Given the description of an element on the screen output the (x, y) to click on. 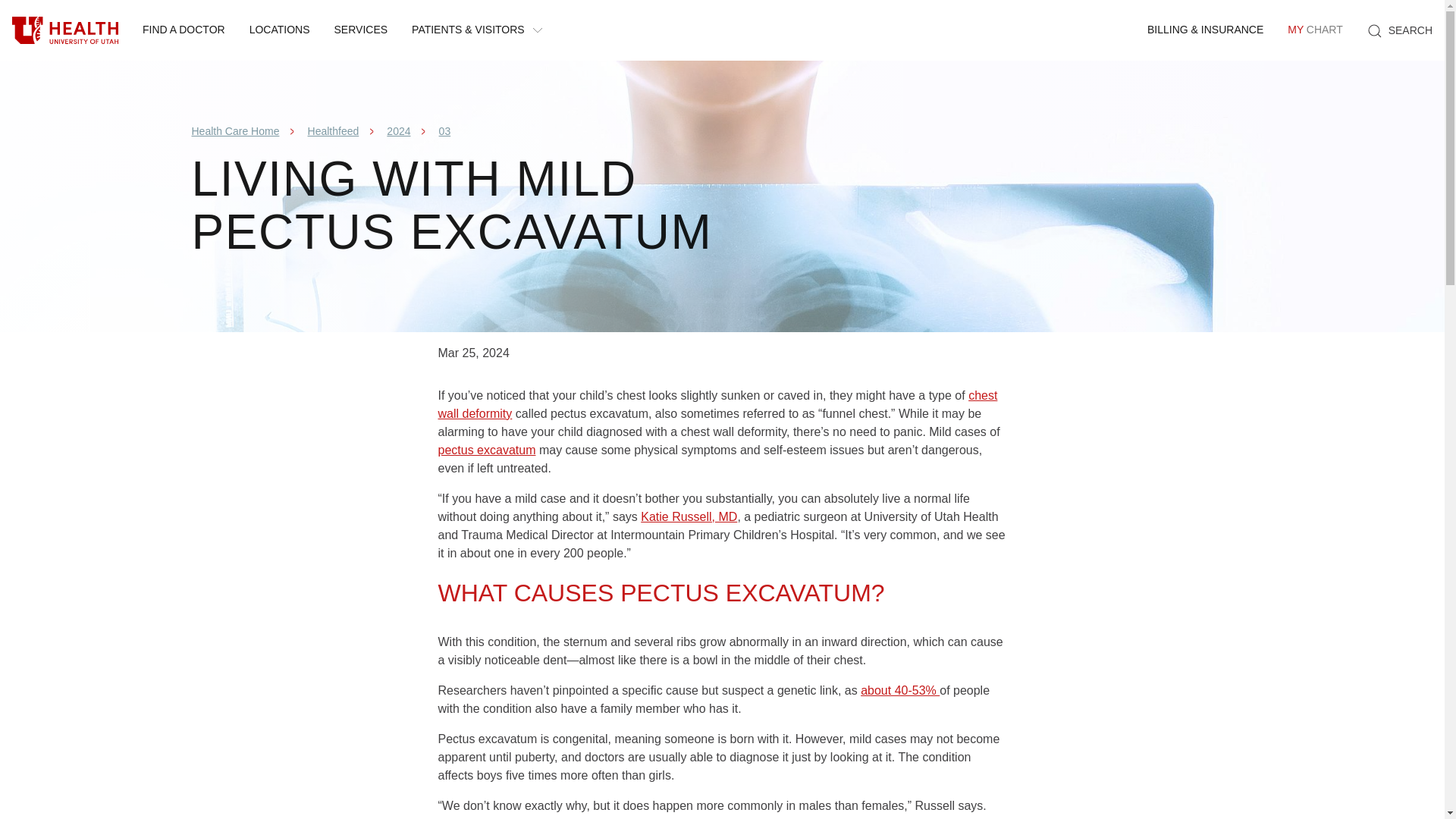
chest wall deformity (717, 404)
Katie Russell, MD (688, 516)
Healthfeed (333, 131)
03 (445, 131)
pectus excavatum (486, 449)
Health Care Home (234, 131)
2024 (398, 131)
SERVICES (360, 30)
SEARCH (1314, 30)
LOCATIONS (1399, 30)
FIND A DOCTOR (279, 30)
University of Utah Health logo (184, 30)
Skip to main content (65, 30)
